Given the description of an element on the screen output the (x, y) to click on. 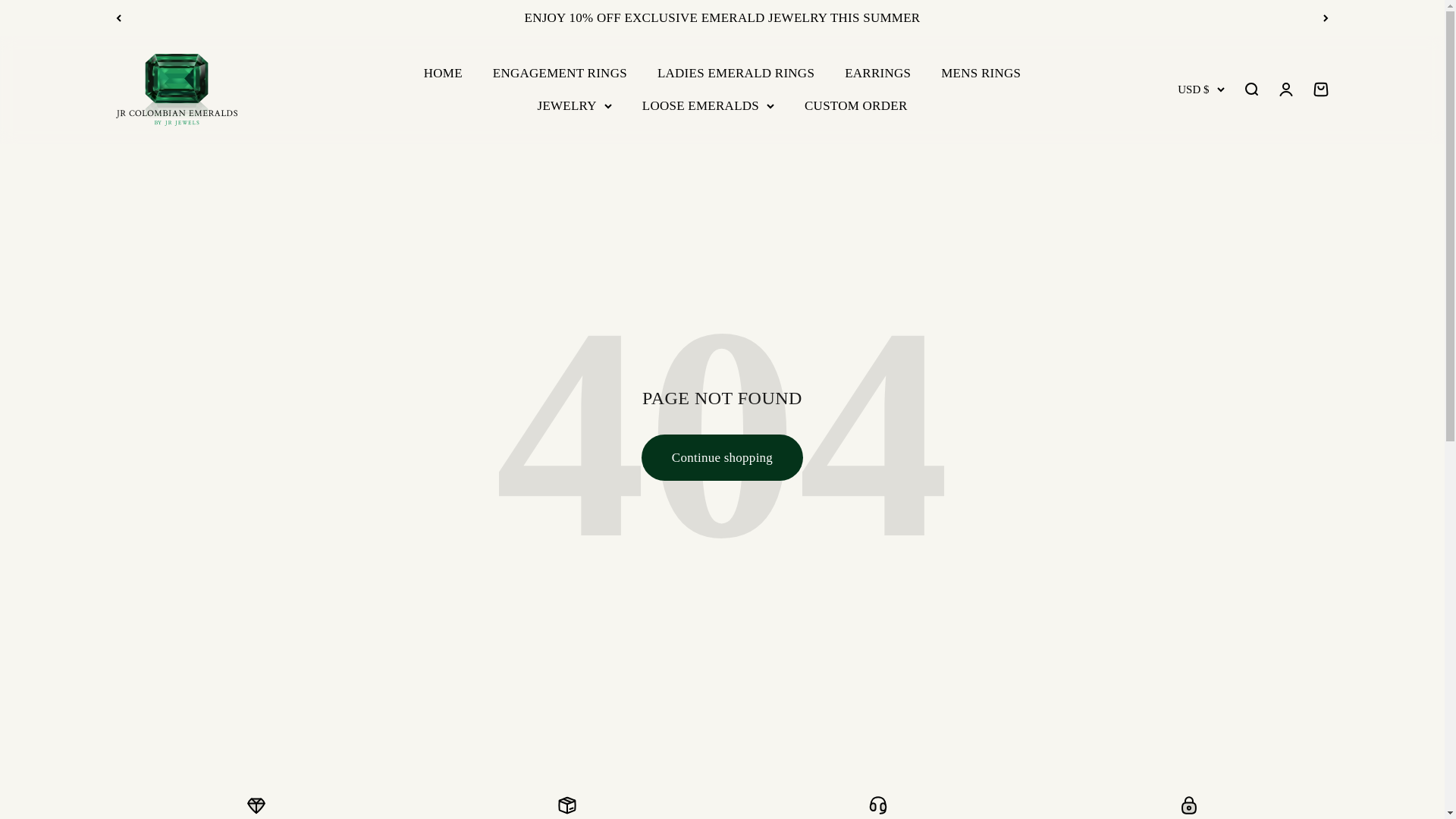
LADIES EMERALD RINGS (735, 73)
EARRINGS (877, 73)
ENGAGEMENT RINGS (560, 73)
CUSTOM ORDER (856, 105)
MENS RINGS (980, 73)
HOME (443, 73)
JR Colombian Emeralds (175, 90)
